Given the description of an element on the screen output the (x, y) to click on. 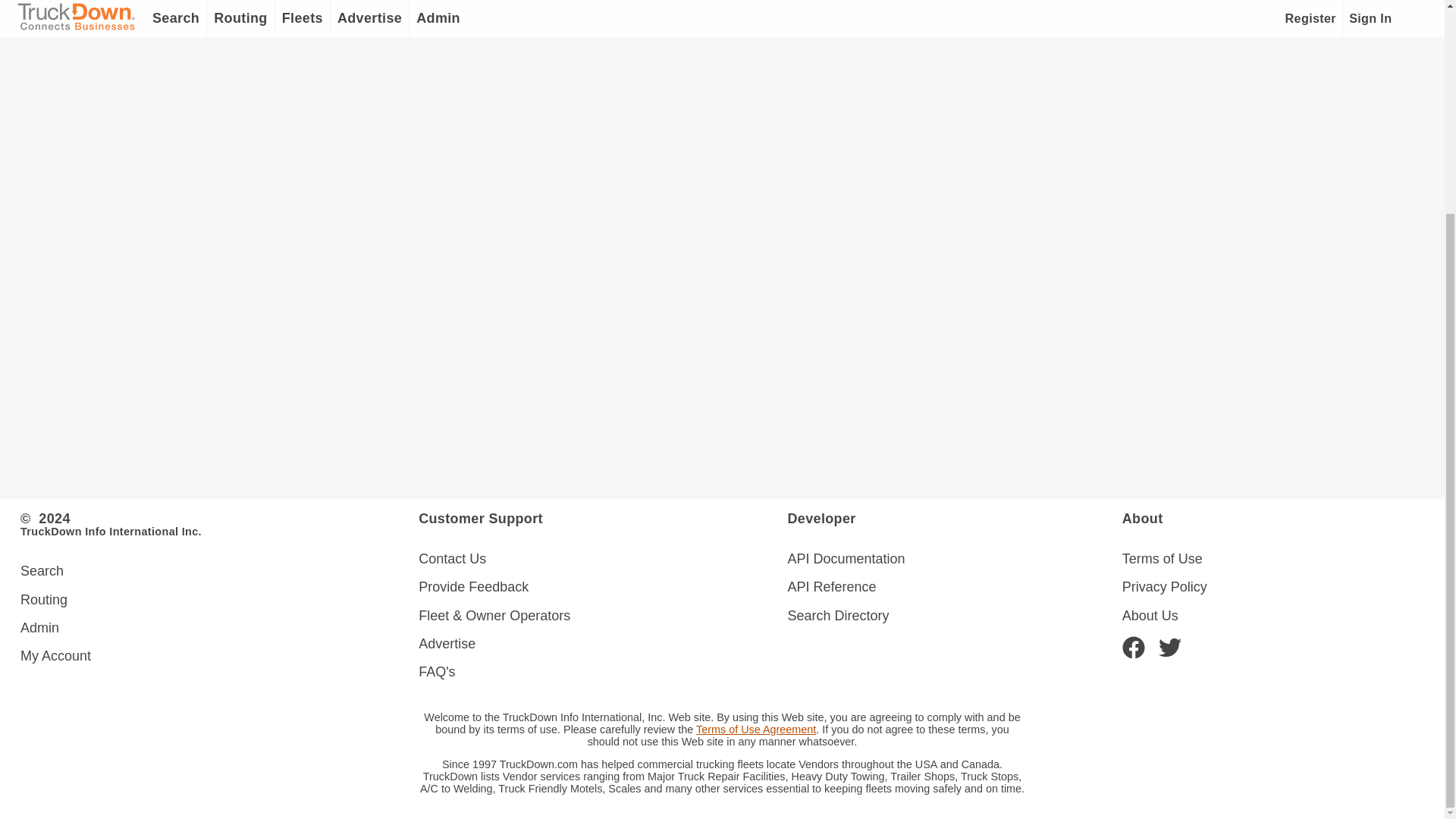
Copyright (219, 522)
Customer Support (603, 516)
Search (219, 571)
Connect with us on twitter. (1169, 640)
Search Directory (954, 615)
About (1272, 516)
Provide Feedback (603, 587)
Faceboook Company Logo (1133, 640)
Terms of Use Agreement (755, 729)
Routing (219, 600)
Terms of Use (1272, 559)
Advertise (603, 643)
Developer (954, 516)
Twitter Company Logo (1169, 640)
API Documentation (954, 559)
